Given the description of an element on the screen output the (x, y) to click on. 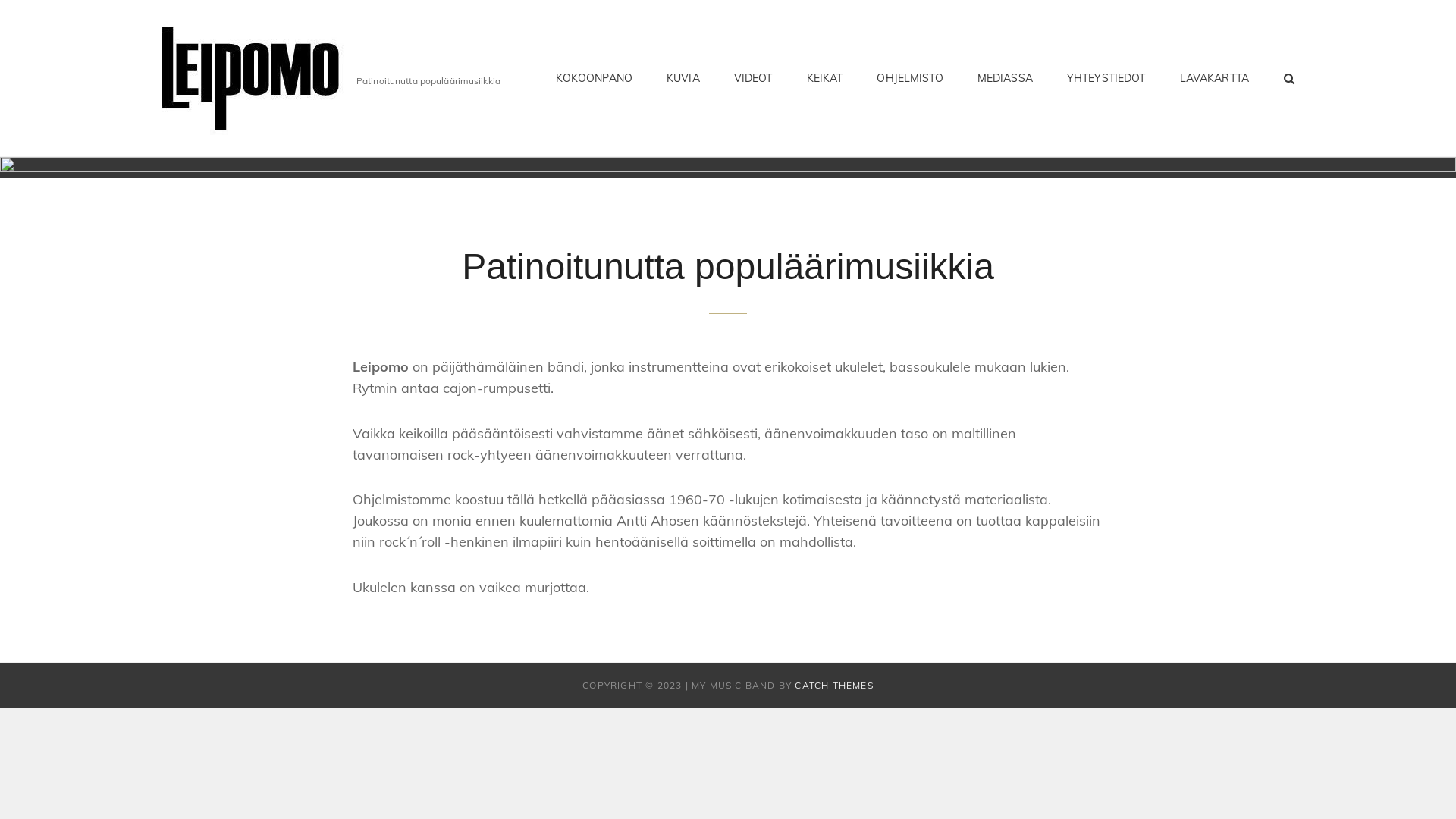
KOKOONPANO Element type: text (593, 77)
CATCH THEMES Element type: text (833, 684)
KUVIA Element type: text (683, 77)
VIDEOT Element type: text (752, 77)
YHTEYSTIEDOT Element type: text (1106, 77)
KEIKAT Element type: text (824, 77)
LAVAKARTTA Element type: text (1214, 77)
MEDIASSA Element type: text (1005, 77)
SEARCH Element type: text (1289, 77)
OHJELMISTO Element type: text (909, 77)
